Given the description of an element on the screen output the (x, y) to click on. 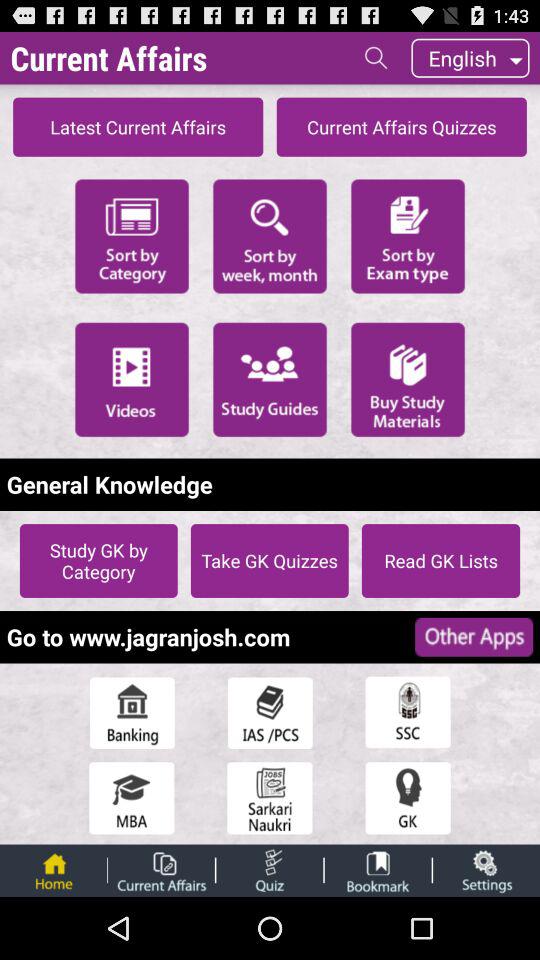
current affair news (161, 870)
